Given the description of an element on the screen output the (x, y) to click on. 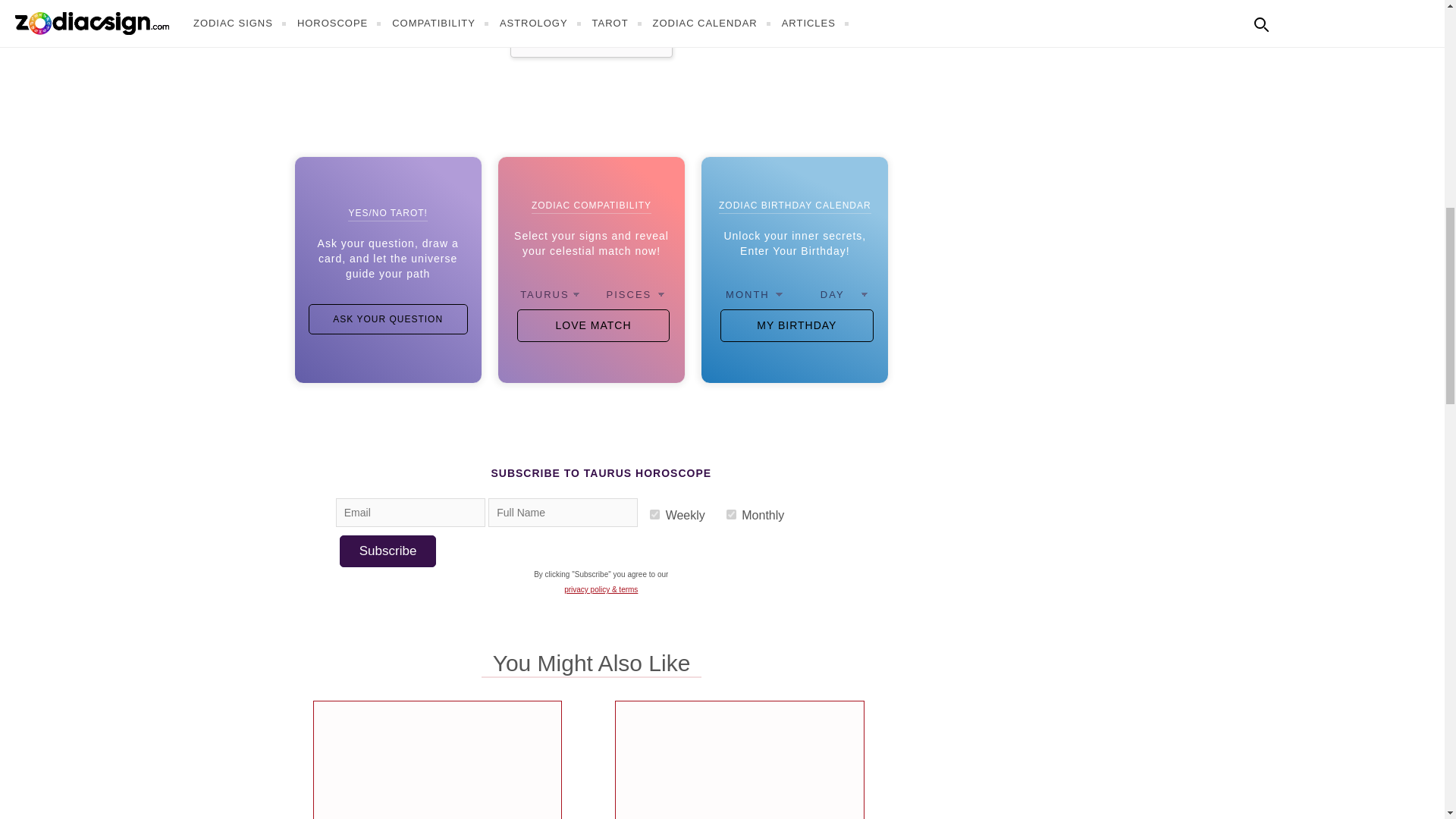
monthly (731, 514)
weekly (654, 514)
